Given the description of an element on the screen output the (x, y) to click on. 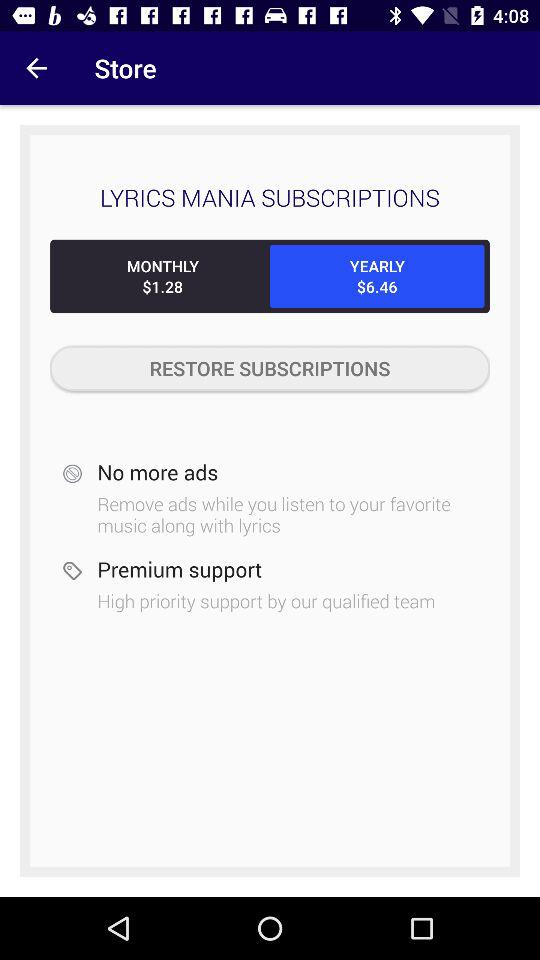
press the item to the right of monthly
$1.28 (377, 275)
